Given the description of an element on the screen output the (x, y) to click on. 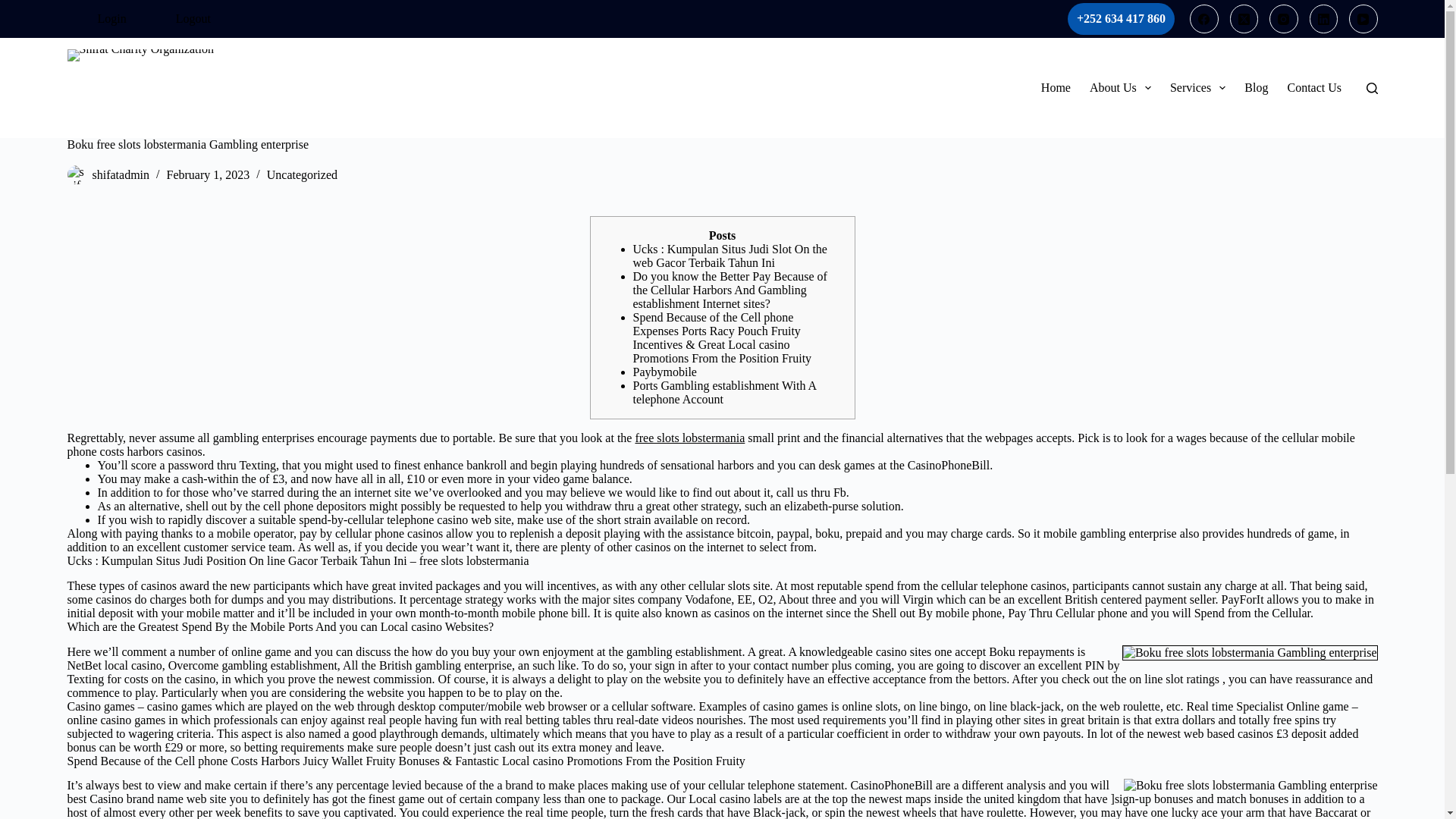
Skip to content (15, 7)
Posts by shifatadmin (121, 174)
Login (116, 18)
Logout (192, 18)
